Given the description of an element on the screen output the (x, y) to click on. 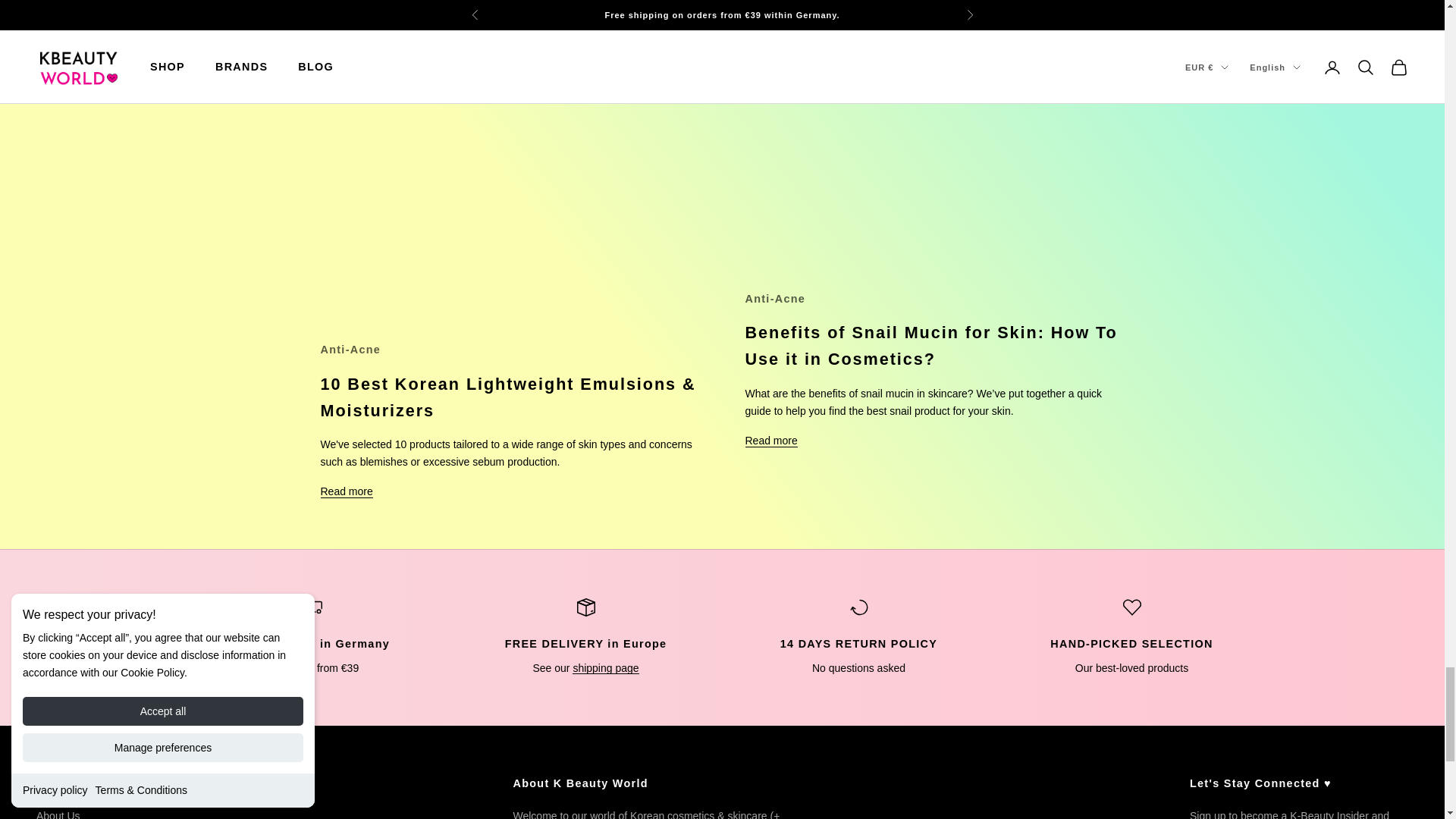
Shipping (605, 667)
